Given the description of an element on the screen output the (x, y) to click on. 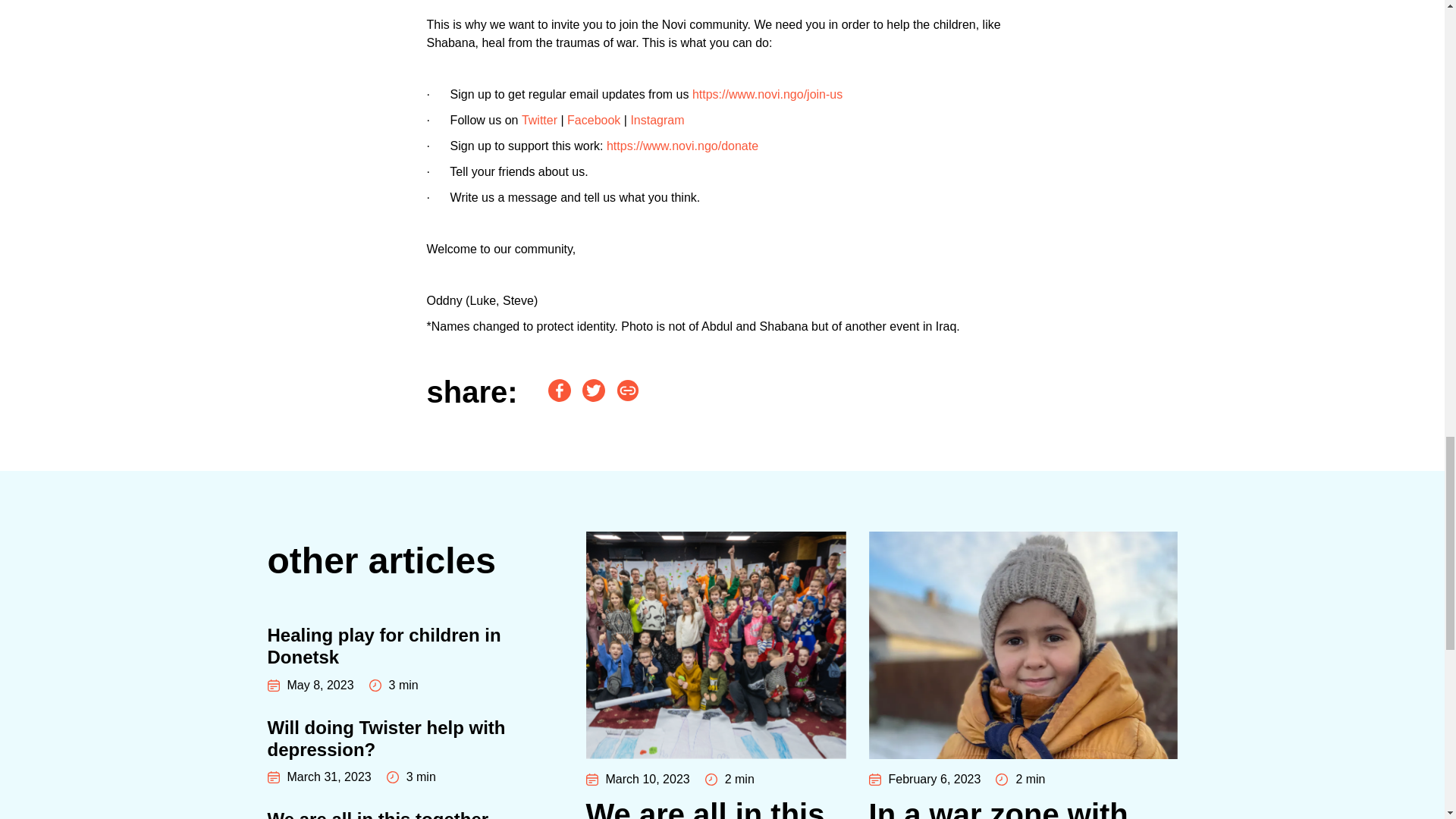
Twitter (414, 814)
Facebook (539, 120)
Instagram (593, 120)
